Given the description of an element on the screen output the (x, y) to click on. 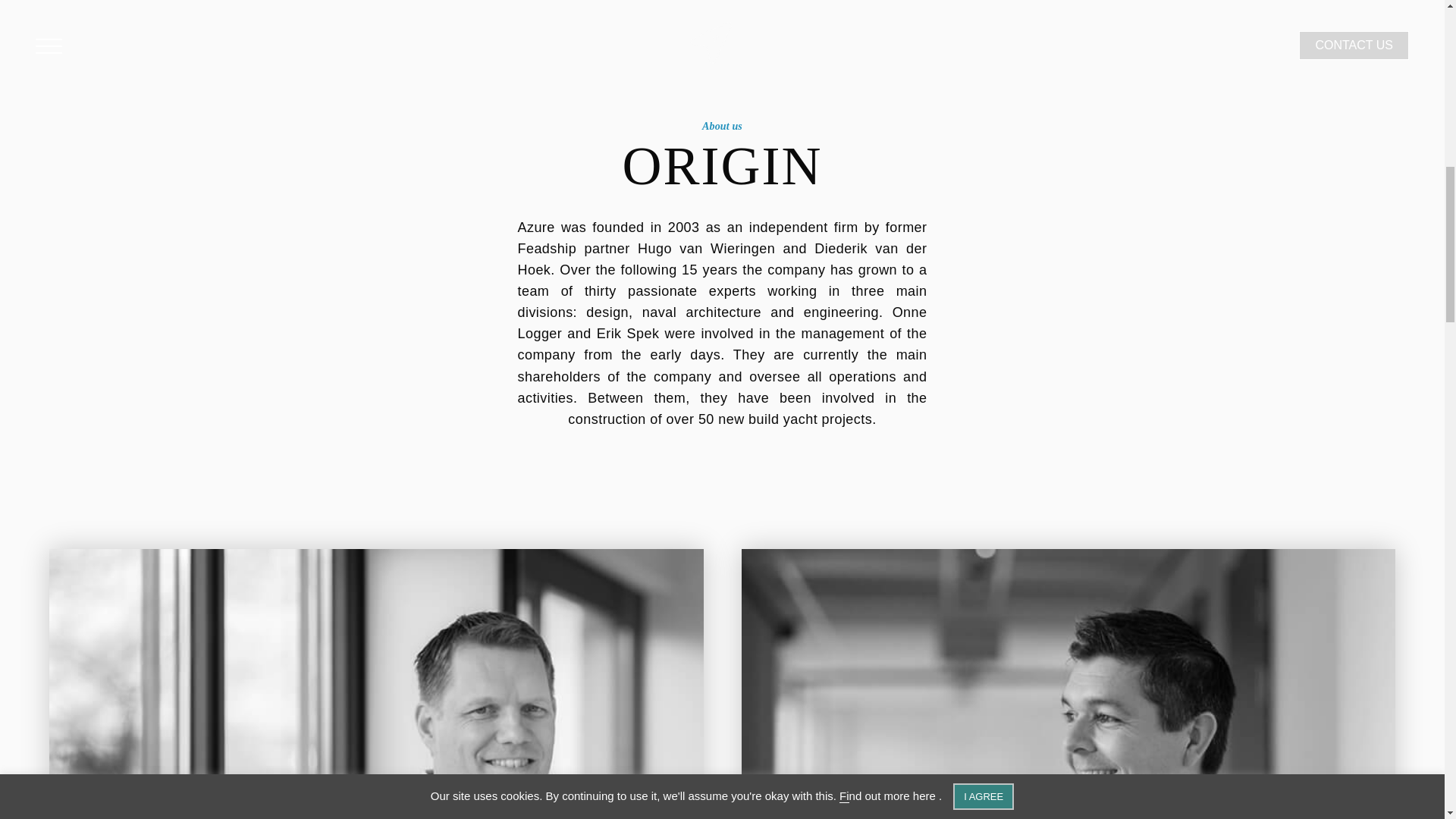
Submit (47, 403)
